Given the description of an element on the screen output the (x, y) to click on. 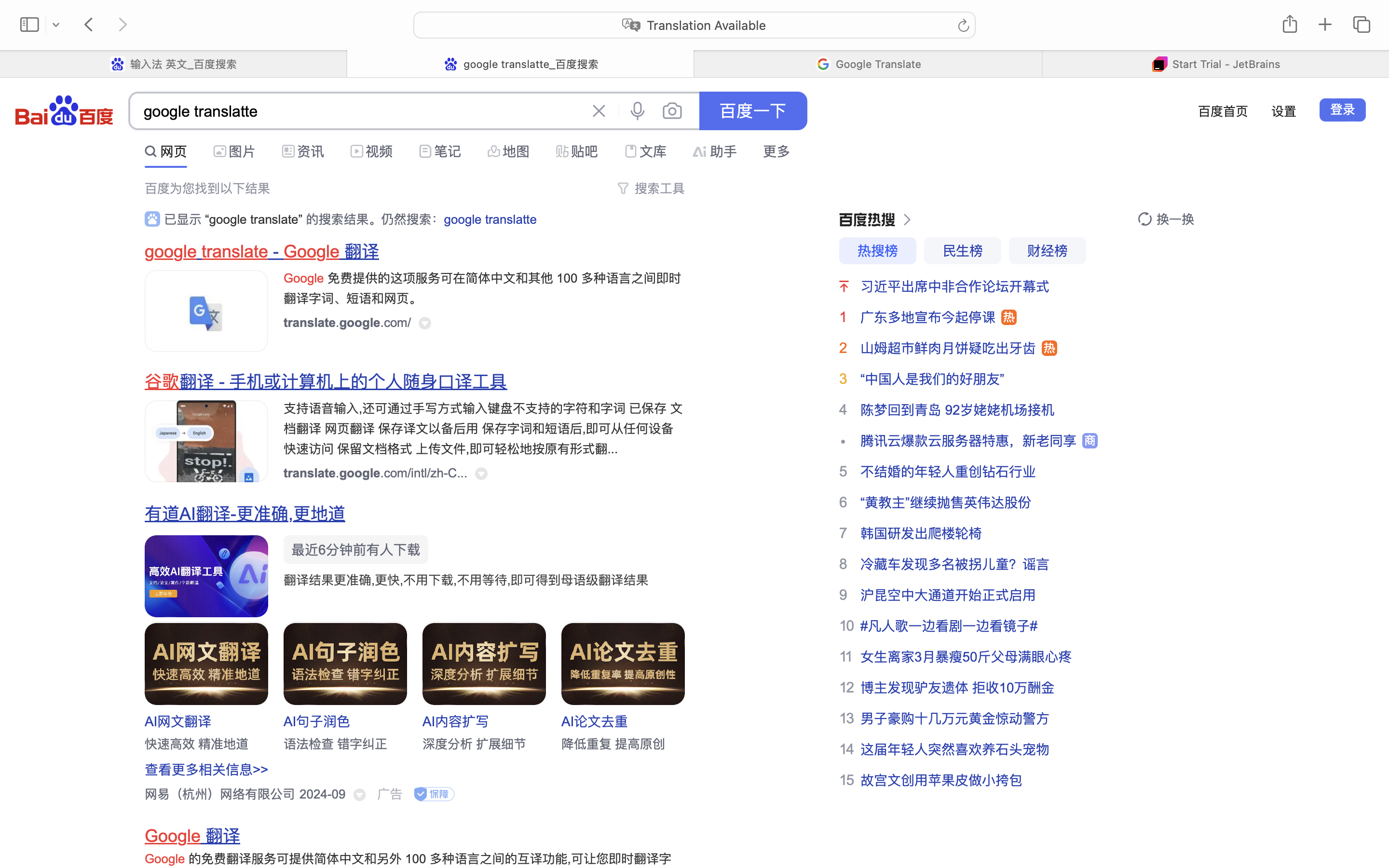
 Element type: AXStaticText (441, 148)
博主发现驴友遗体 拒收10万酬金 Element type: AXStaticText (957, 687)
 Element type: AXStaticText (844, 286)
地图 Element type: AXStaticText (515, 151)
的搜索结果。仍然搜索： Element type: AXStaticText (372, 219)
